Given the description of an element on the screen output the (x, y) to click on. 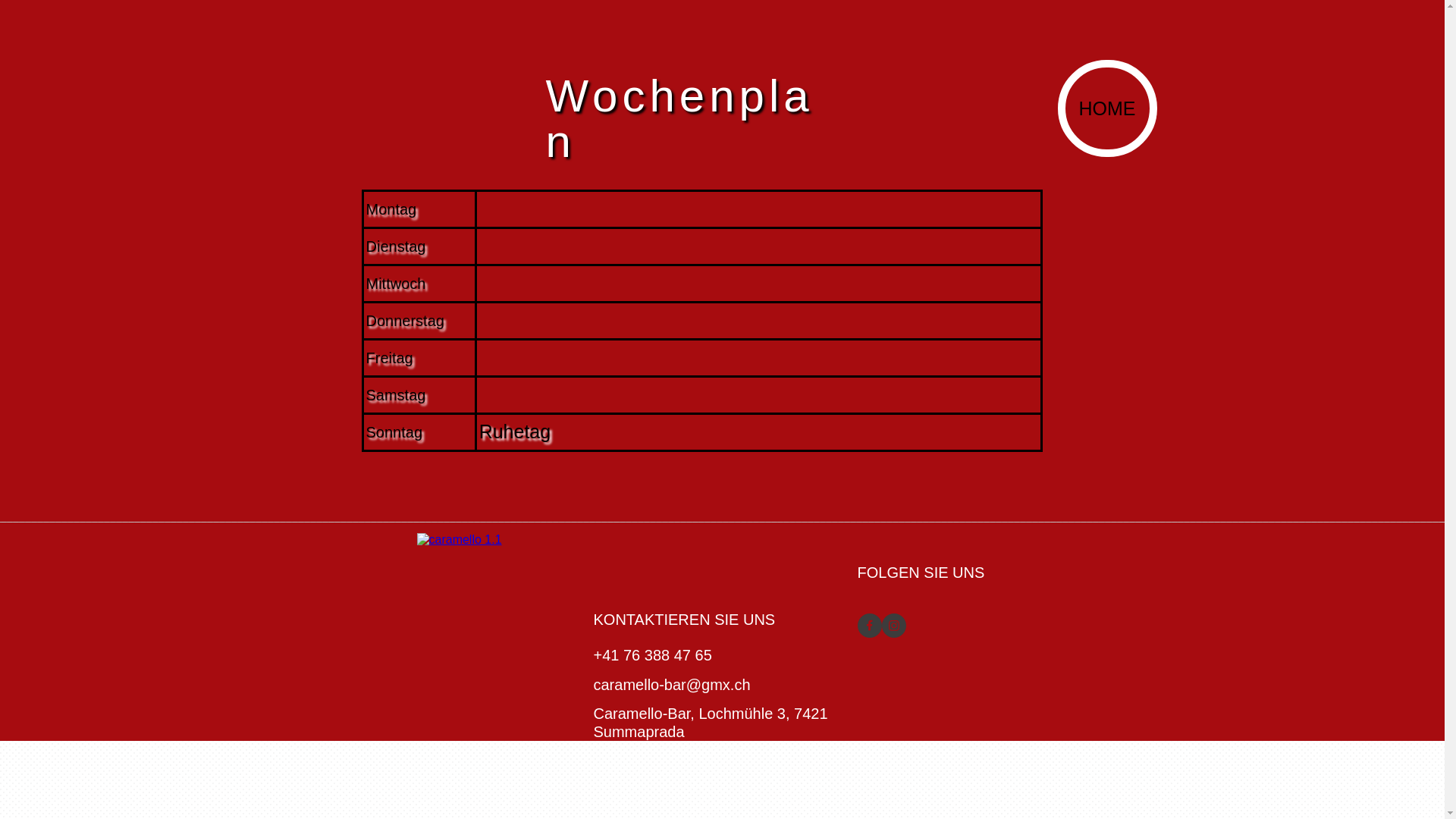
caramello-bar@gmx.ch Element type: text (671, 684)
HOME Element type: text (1106, 108)
Sonntag Element type: text (393, 431)
+41 76 388 47 65 Element type: text (652, 654)
